Given the description of an element on the screen output the (x, y) to click on. 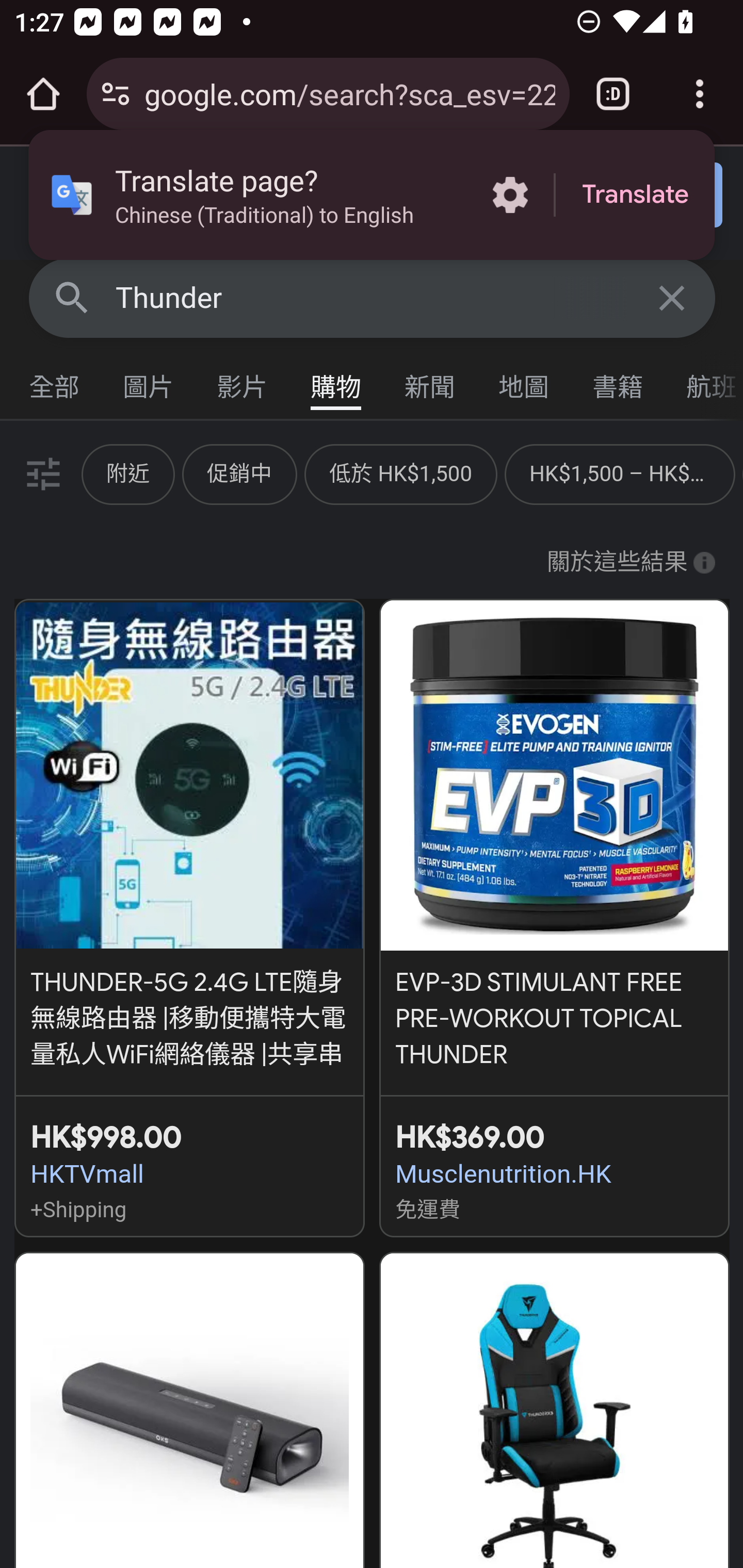
Open the home page (43, 93)
Connection is secure (115, 93)
Switch or close tabs (612, 93)
Customize and control Google Chrome (699, 93)
主選單 (54, 202)
More options in the Translate page? (509, 195)
登入 (650, 195)
Google 搜尋 (71, 296)
清除搜尋內容 (672, 296)
Thunder (372, 297)
全部 (54, 382)
圖片 (148, 382)
影片 (242, 382)
新聞 (430, 382)
地圖 (524, 382)
書籍 (618, 382)
航班 (703, 382)
篩選器.未套用任何篩選條件。 (41, 473)
附近 (127, 473)
促銷中 (238, 473)
低於 HK$1,500 (400, 473)
HK$1,500 – HK$4,500 (620, 473)
關於這些結果 More info 關於這些結果  More info (630, 562)
EVP-3D STIMULANT FREE PRE-WORKOUT TOPICAL THUNDER (553, 836)
【額外95折】OXS S2 Thunder Lite Soundbar (189, 1410)
